Given the description of an element on the screen output the (x, y) to click on. 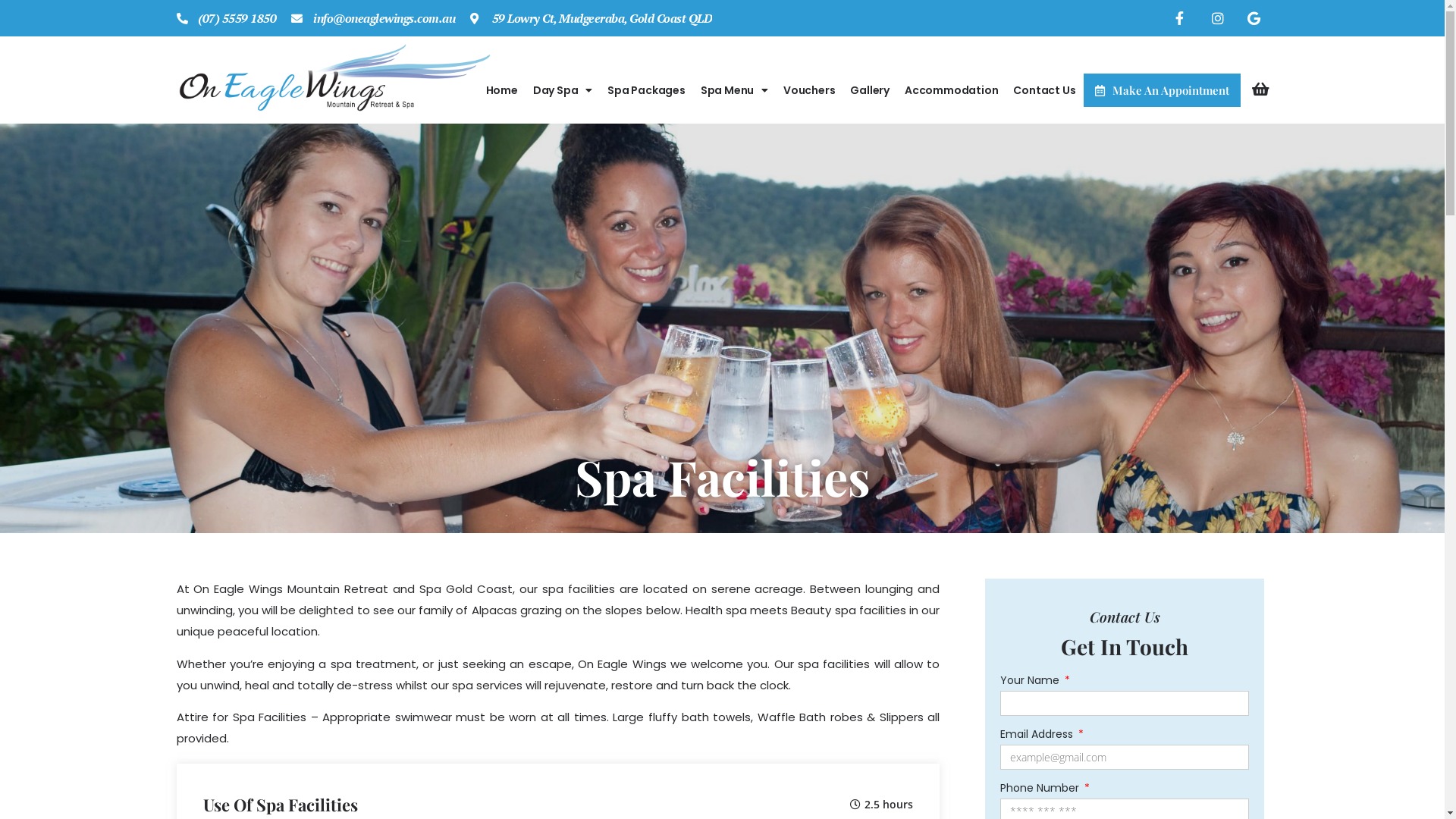
Day Spa Element type: text (562, 90)
Home Element type: text (501, 90)
Make An Appointment Element type: text (1161, 89)
Spa Packages Element type: text (646, 90)
Contact Us Element type: text (1044, 90)
Vouchers Element type: text (808, 90)
Gallery Element type: text (869, 90)
(07) 5559 1850 Element type: text (225, 17)
Spa Menu Element type: text (734, 90)
59 Lowry Ct, Mudgeeraba, Gold Coast QLD Element type: text (591, 17)
info@oneaglewings.com.au Element type: text (373, 17)
Accommodation Element type: text (950, 90)
